Given the description of an element on the screen output the (x, y) to click on. 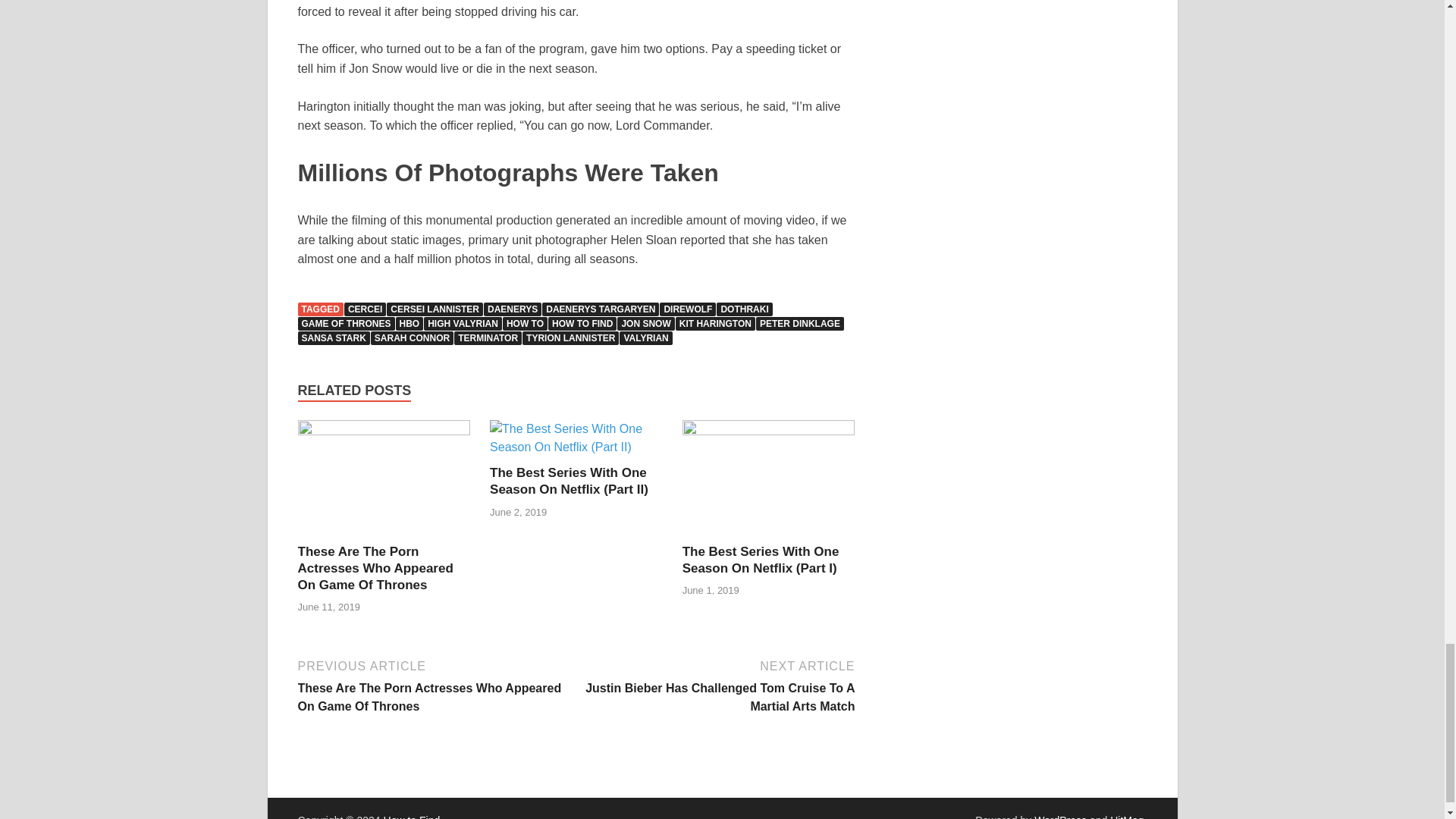
VALYRIAN (645, 337)
HOW TO FIND (581, 323)
JON SNOW (645, 323)
PETER DINKLAGE (799, 323)
CERSEI LANNISTER (435, 309)
GAME OF THRONES (345, 323)
These Are The Porn Actresses Who Appeared On Game Of Thrones (374, 568)
CERCEI (364, 309)
HBO (409, 323)
These Are The Porn Actresses Who Appeared On Game Of Thrones (374, 568)
DAENERYS TARGARYEN (600, 309)
DOTHRAKI (743, 309)
SARAH CONNOR (411, 337)
HIGH VALYRIAN (462, 323)
HOW TO (524, 323)
